Given the description of an element on the screen output the (x, y) to click on. 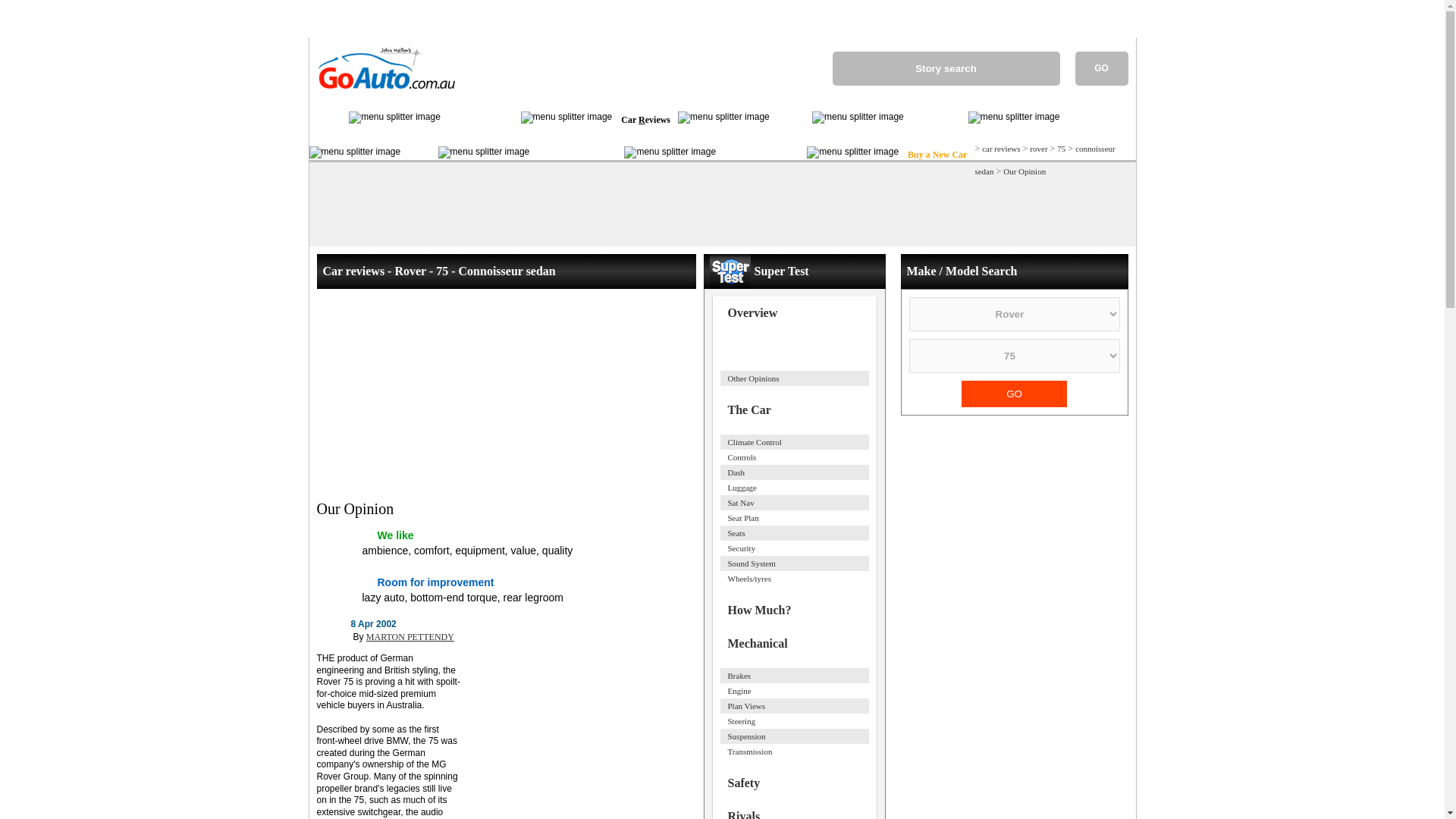
rover (1037, 148)
Make Model Search (576, 154)
Car Reviews (644, 119)
Buy a New Car (936, 154)
GoAuto.com.au (381, 94)
car reviews (1000, 148)
75 (1061, 148)
Story search (945, 68)
connoisseur sedan (1044, 160)
Car Videos - Check out the latest New Car Videos (791, 119)
